Given the description of an element on the screen output the (x, y) to click on. 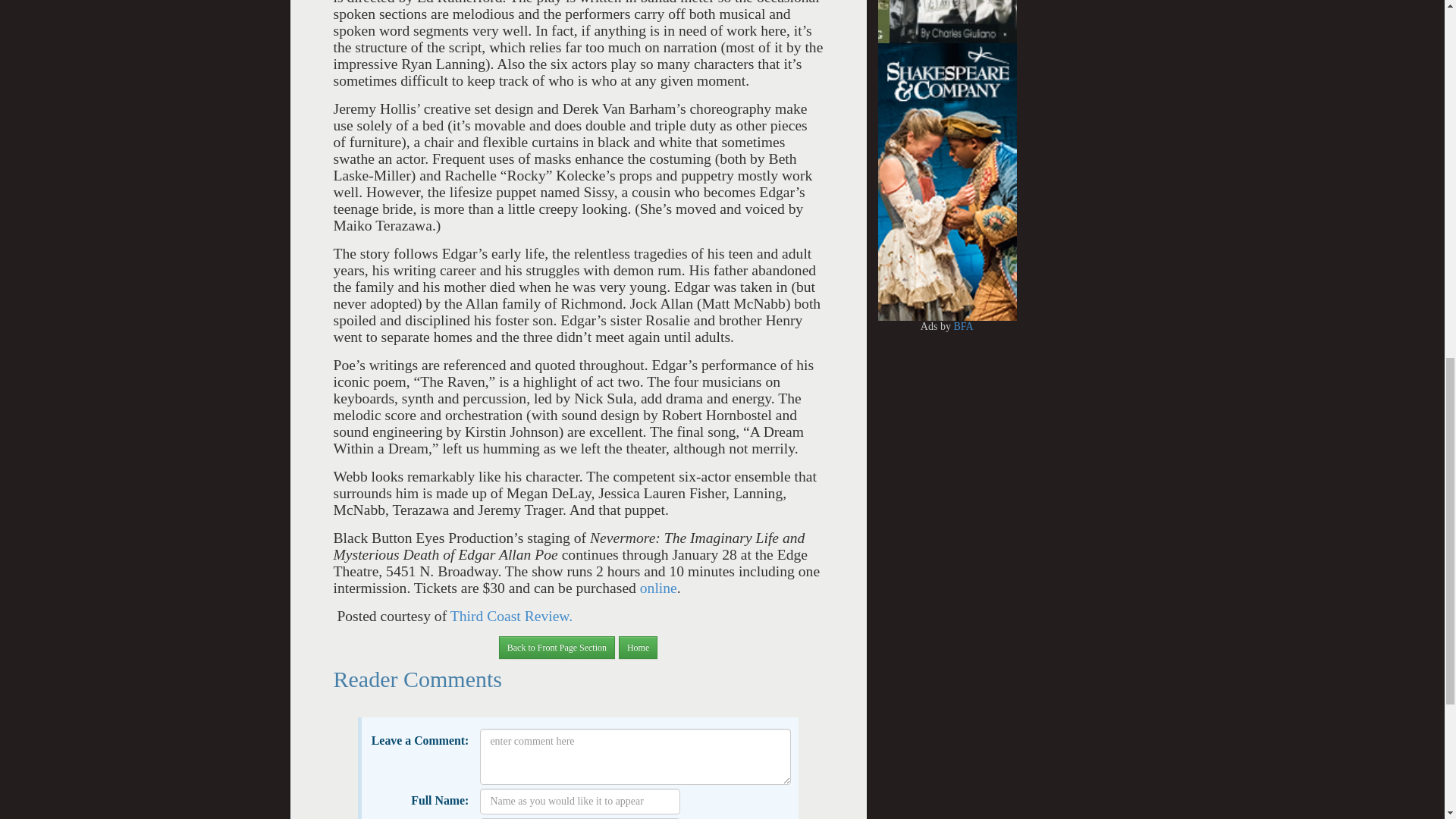
ad (799, 4)
ad (809, 4)
ad (949, 4)
